Given the description of an element on the screen output the (x, y) to click on. 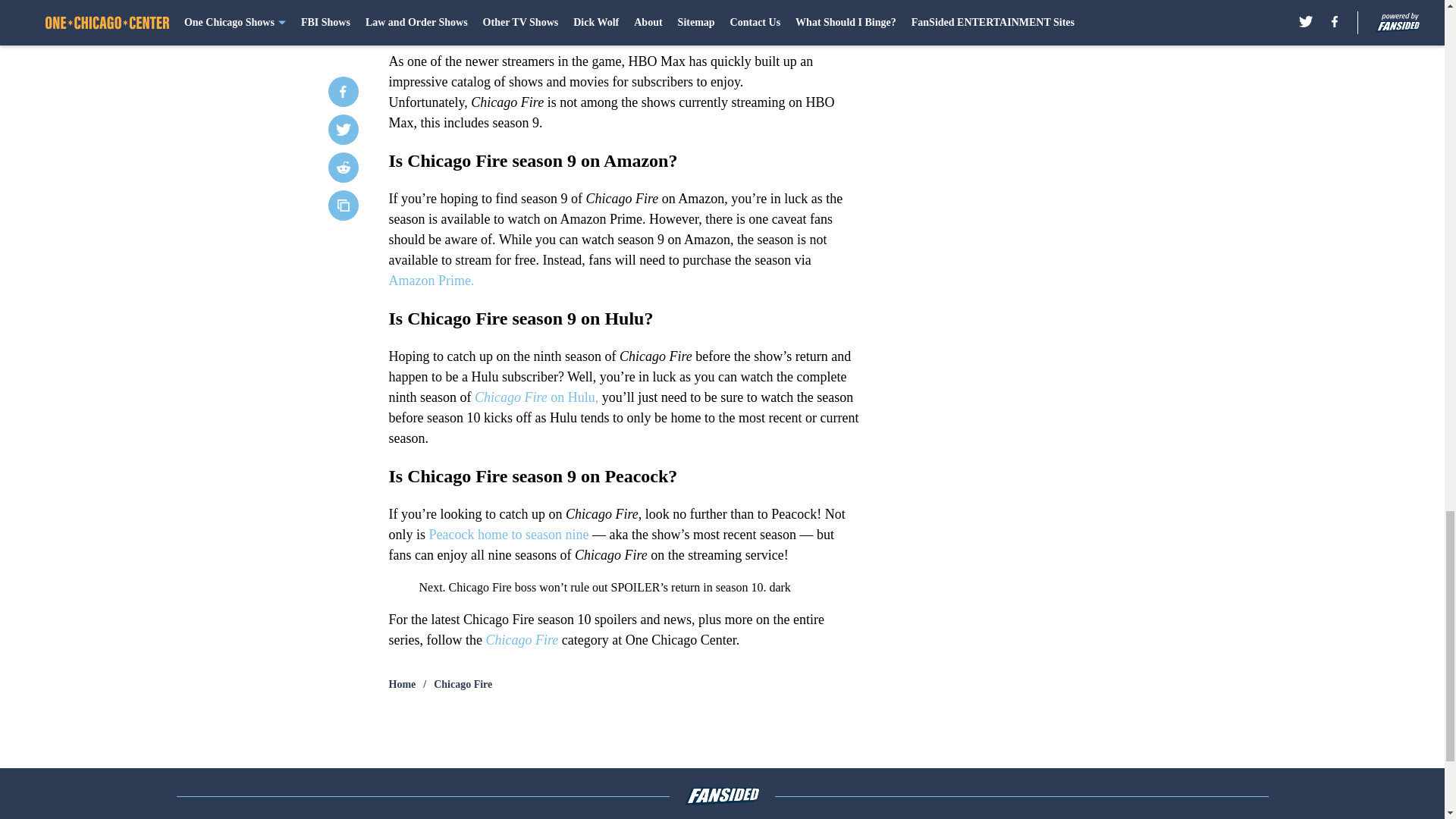
Home (401, 684)
Peacock home to season nine (506, 534)
Amazon Prime. (431, 280)
Chicago Fire (462, 684)
Chicago Fire (520, 639)
 Chicago Fire  (510, 396)
on Hulu, (574, 396)
